Given the description of an element on the screen output the (x, y) to click on. 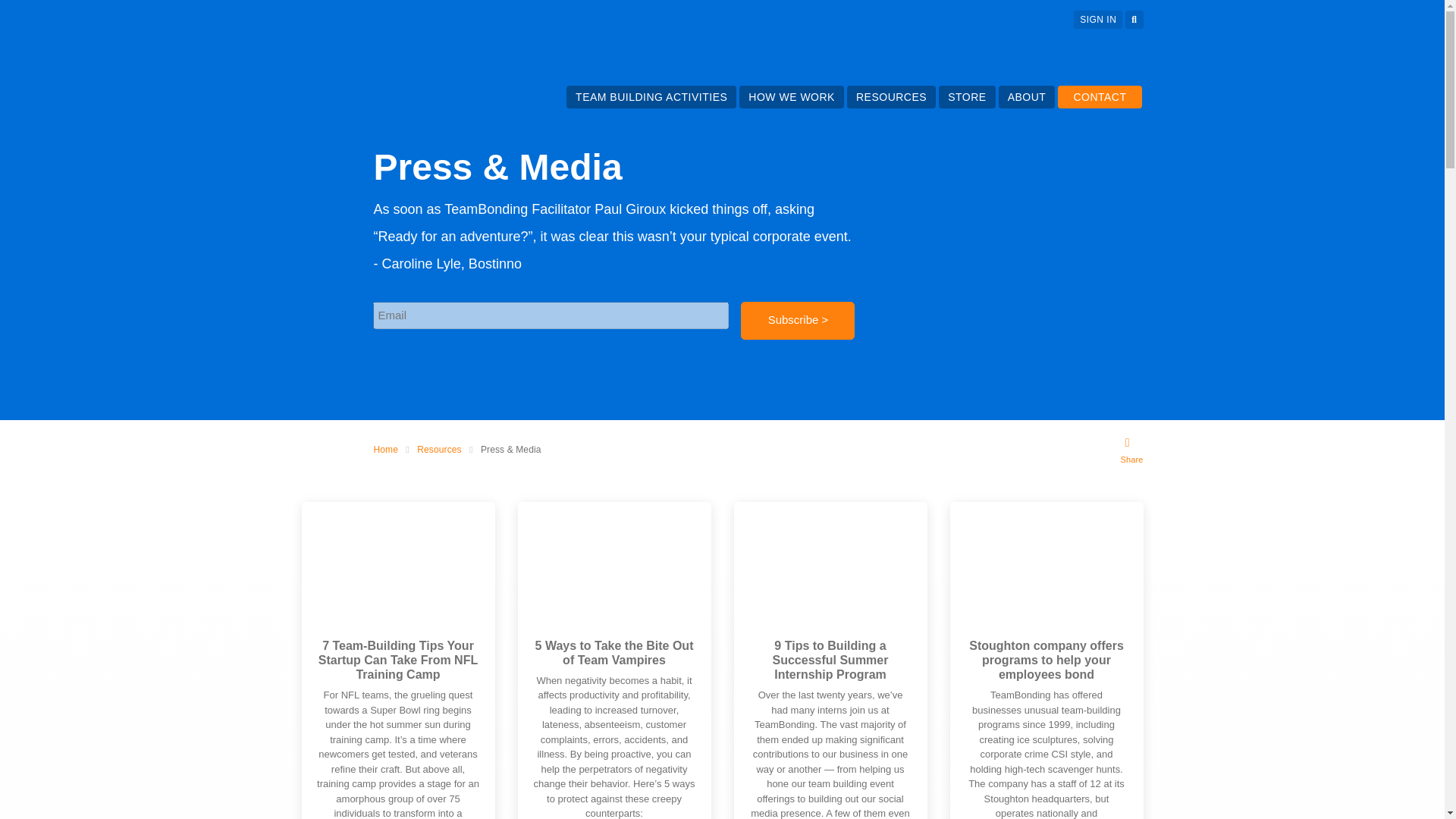
HOW WE WORK (791, 96)
CONTACT (1099, 96)
STORE (966, 96)
RESOURCES (891, 96)
SIGN IN (1098, 19)
TEAM BUILDING ACTIVITIES (650, 96)
ABOUT (1026, 96)
